Given the description of an element on the screen output the (x, y) to click on. 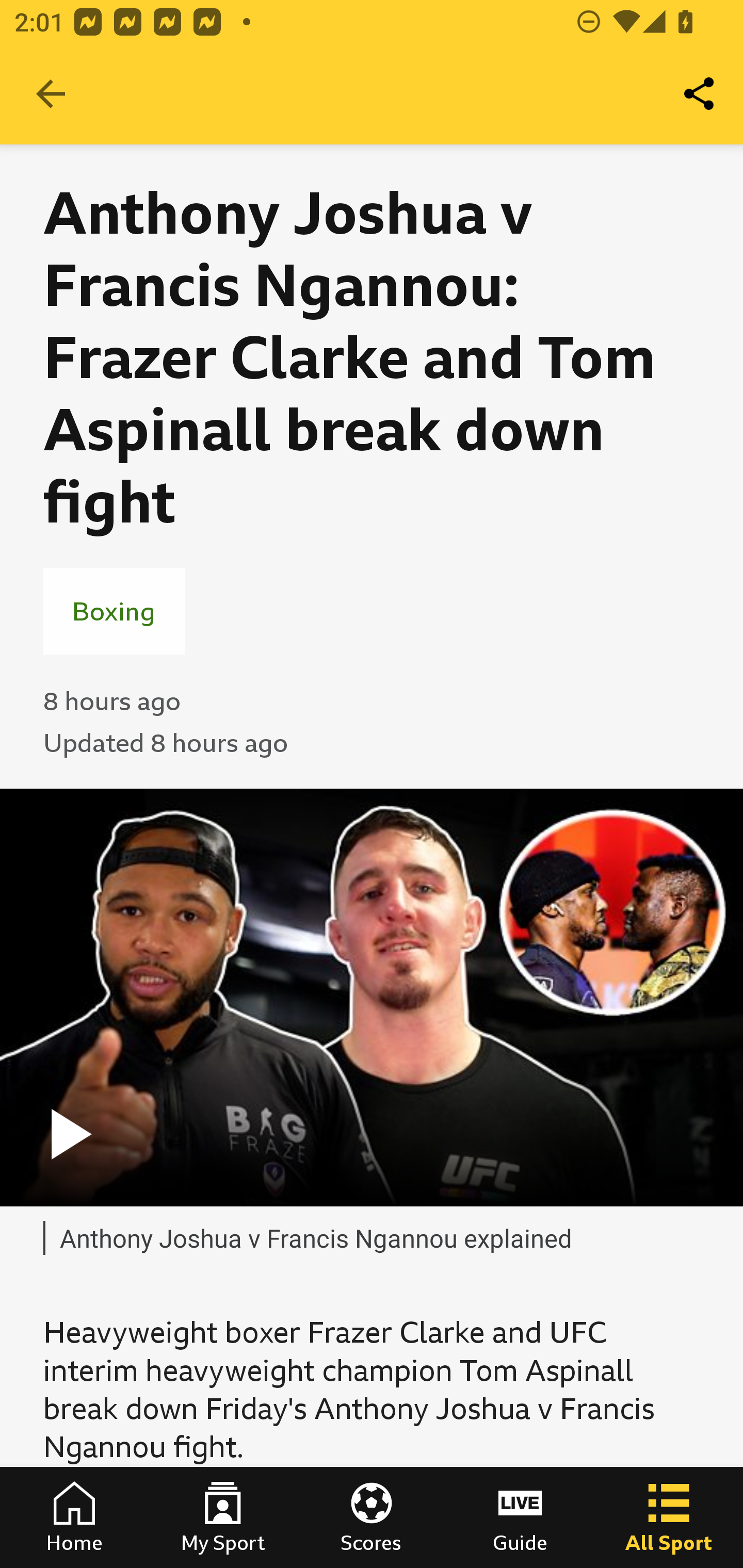
Navigate up (50, 93)
Share (699, 93)
Boxing (114, 610)
play fullscreen (371, 996)
Home (74, 1517)
My Sport (222, 1517)
Scores (371, 1517)
Guide (519, 1517)
